Given the description of an element on the screen output the (x, y) to click on. 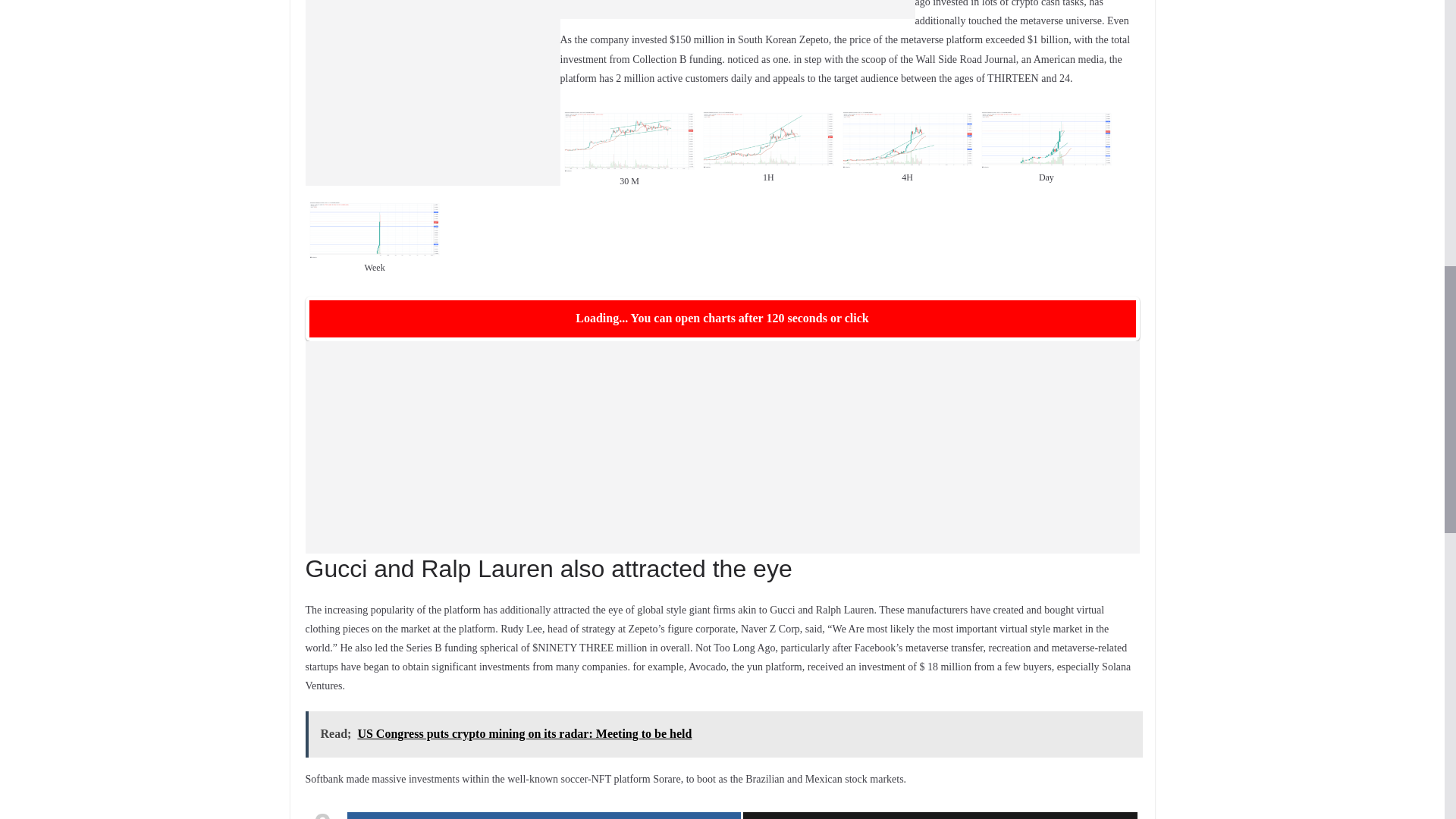
Advertisement (736, 9)
Tweet (939, 815)
Advertisement (431, 92)
Share (544, 815)
